Given the description of an element on the screen output the (x, y) to click on. 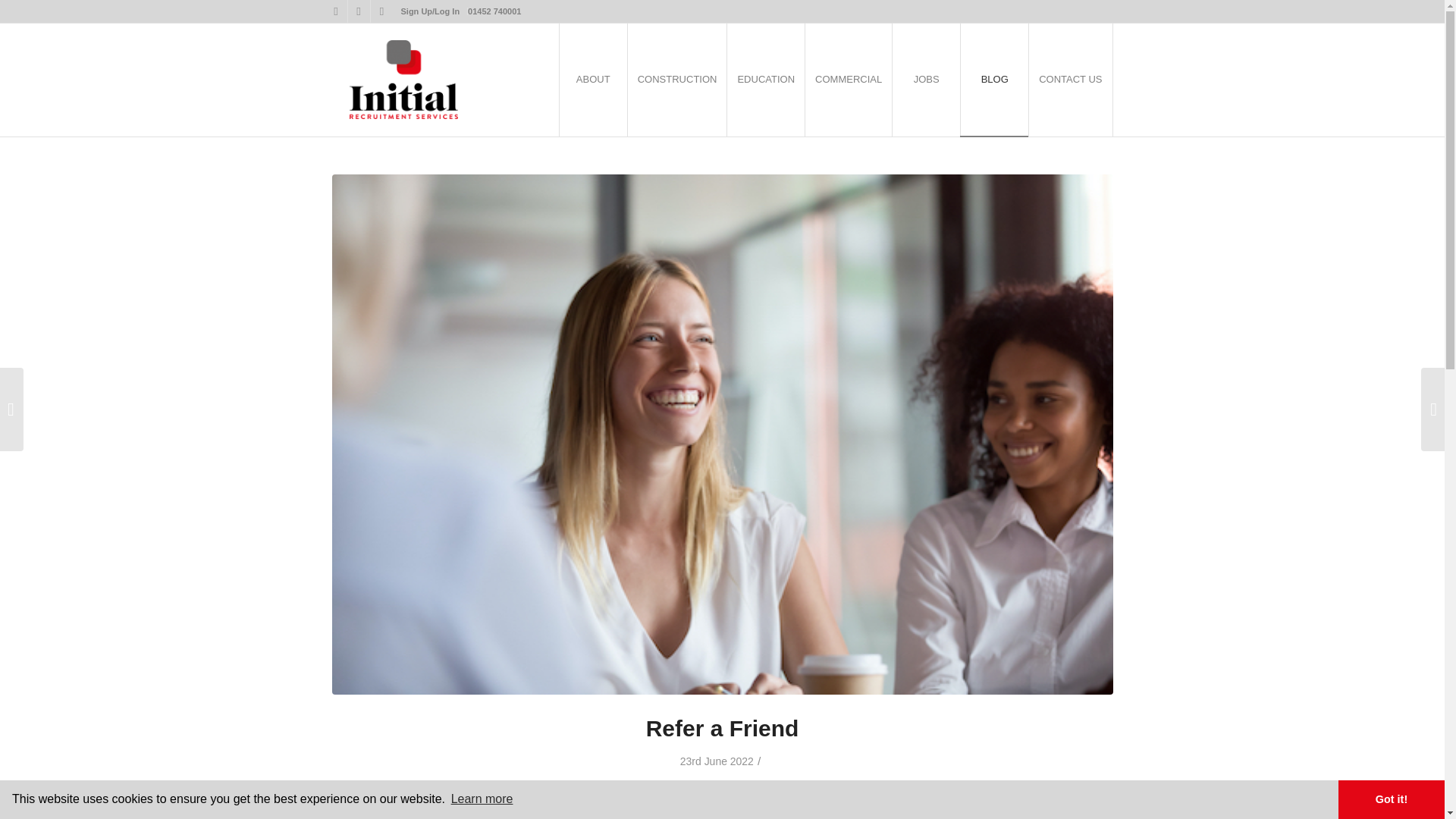
Learn more (481, 798)
Linkedin (381, 11)
Permanent Link: Refer a Friend (722, 728)
Facebook (358, 11)
Twitter (335, 11)
